Given the description of an element on the screen output the (x, y) to click on. 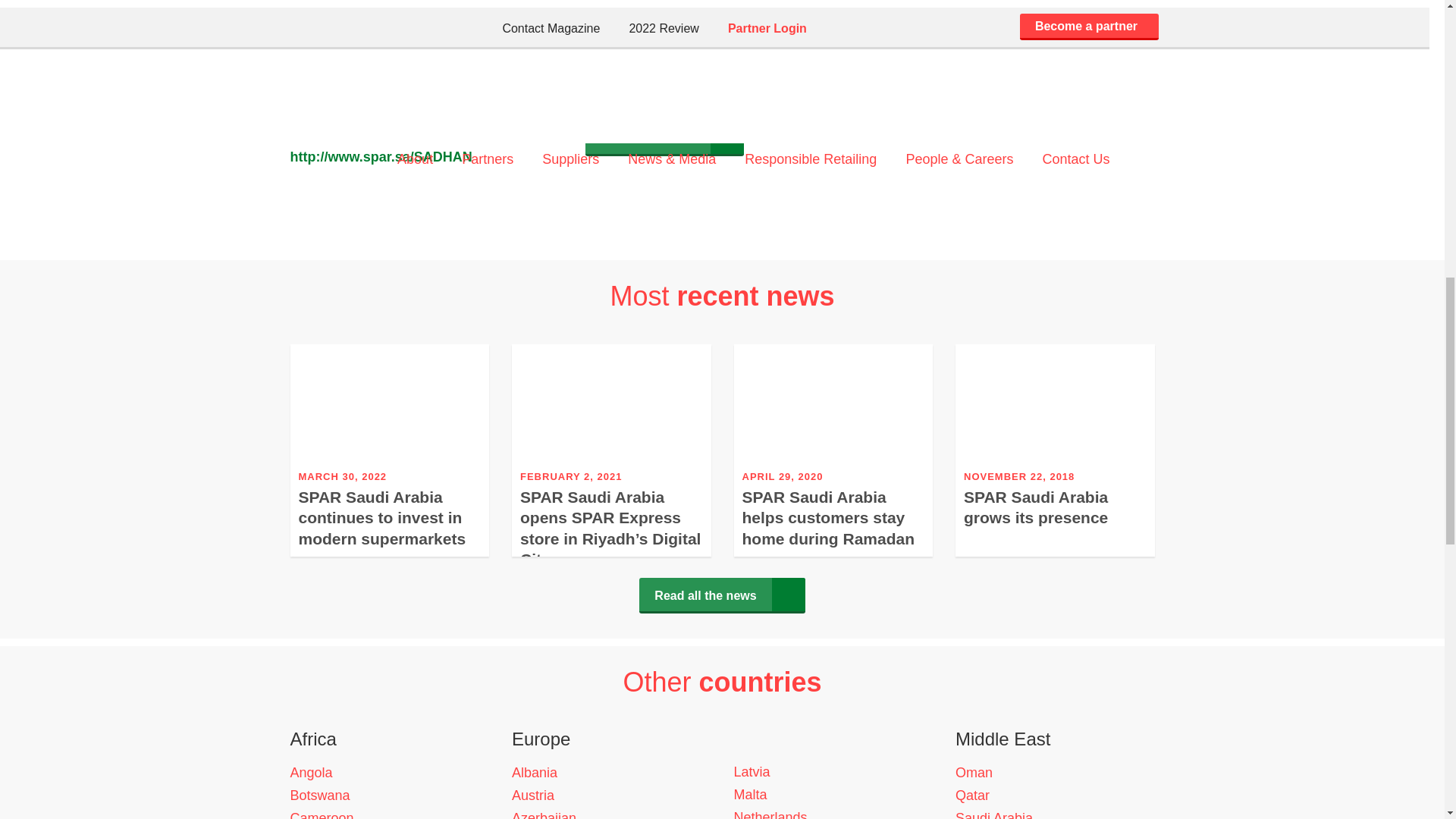
SPAR Saudi Arabia website (425, 110)
Key Figures of SPAR Countries (663, 138)
Webshop (425, 156)
